Given the description of an element on the screen output the (x, y) to click on. 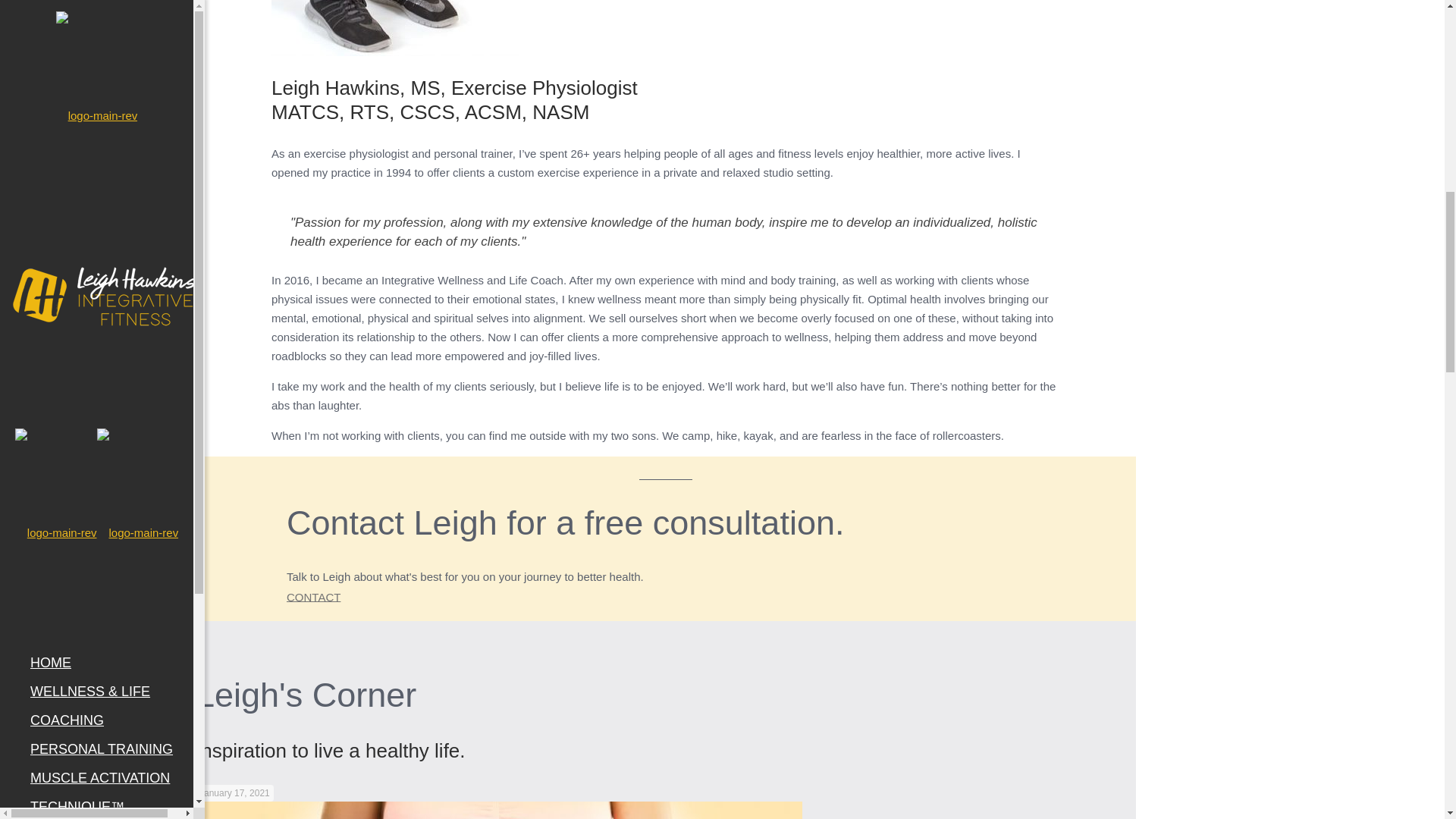
CONTACT (313, 595)
VIDEO GALLERY (84, 102)
TESTIMONIALS (80, 131)
CONTACT (63, 160)
MEET LEIGH (71, 73)
